Given the description of an element on the screen output the (x, y) to click on. 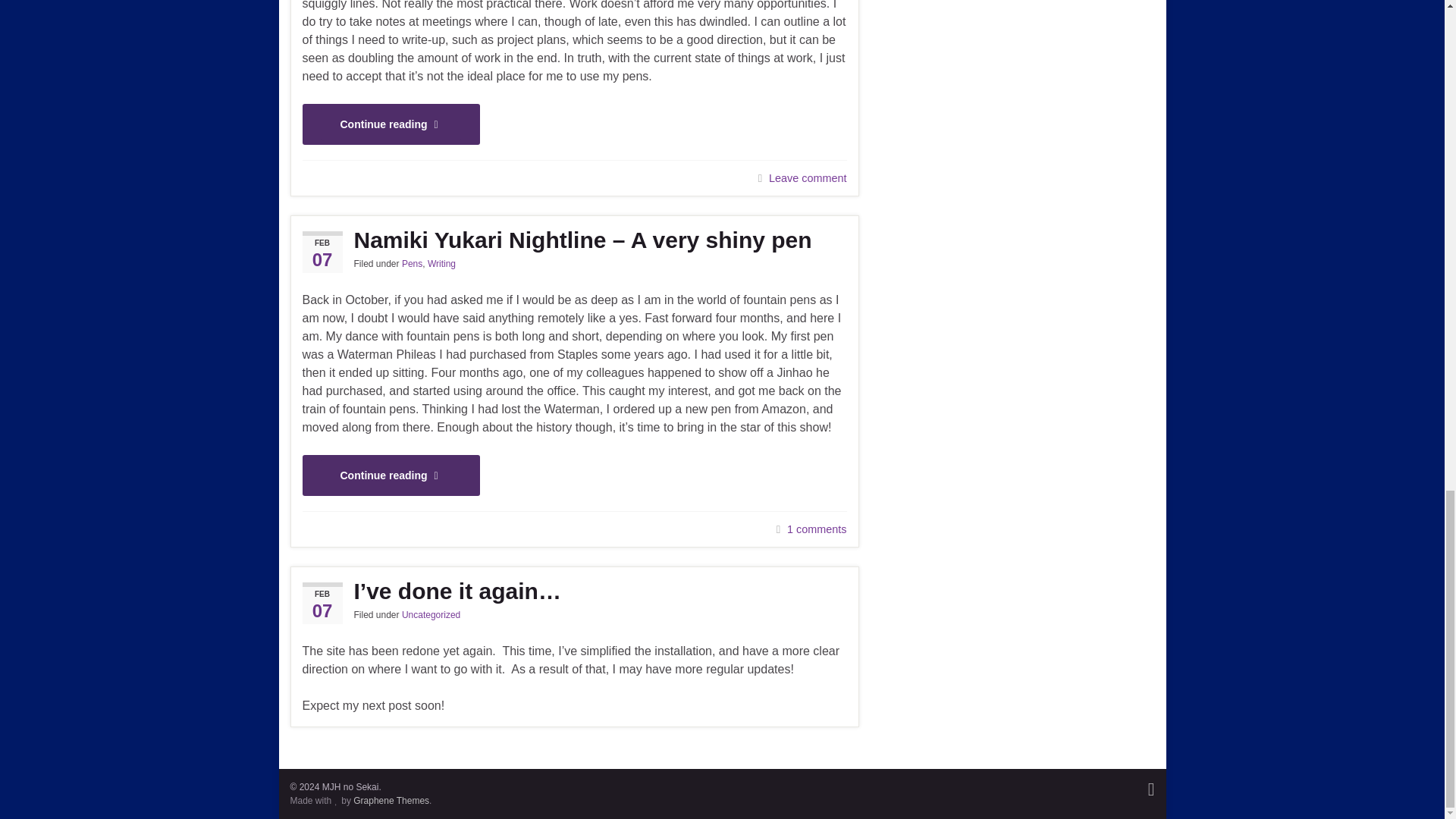
1 comments (816, 529)
Writing (441, 263)
Uncategorized (430, 614)
Continue reading (390, 124)
Leave comment (806, 177)
Pens (411, 263)
Continue reading (390, 475)
